Given the description of an element on the screen output the (x, y) to click on. 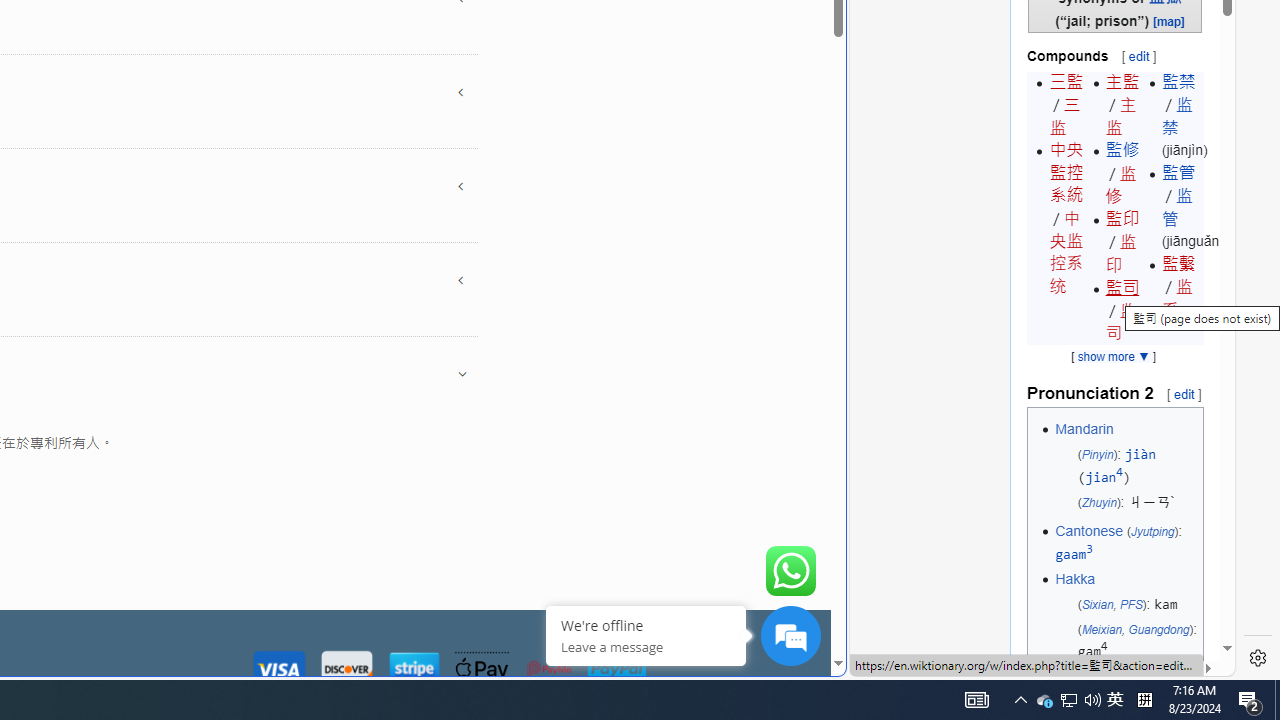
Favorites (343, 482)
Pinyin (1097, 453)
google_privacy_policy_zh-CN.pdf (687, 482)
jian4 (1103, 477)
edit (1183, 393)
Eastern Min (1092, 681)
